Given the description of an element on the screen output the (x, y) to click on. 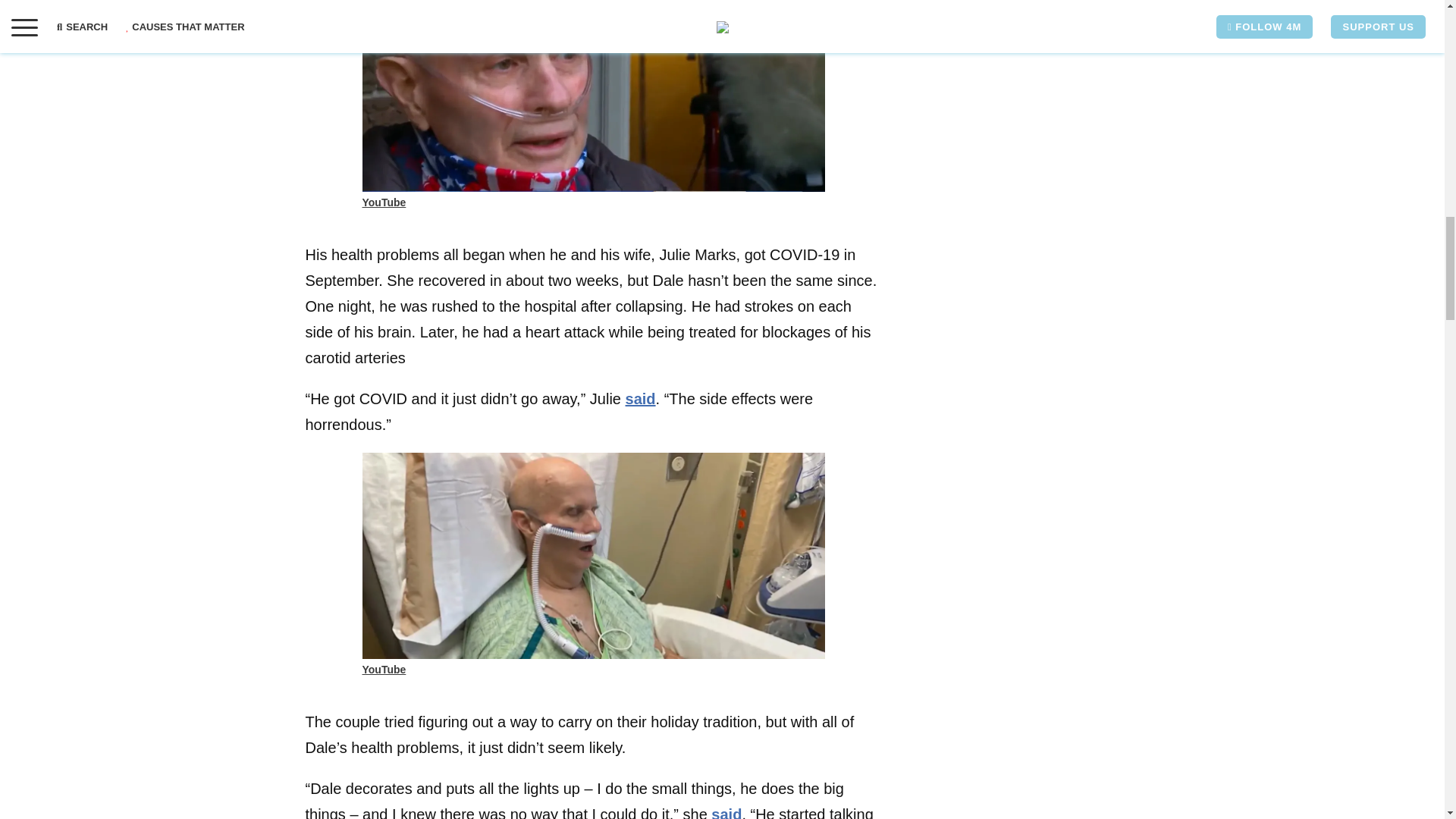
YouTube (384, 202)
said (641, 398)
said (726, 812)
YouTube (384, 669)
